Given the description of an element on the screen output the (x, y) to click on. 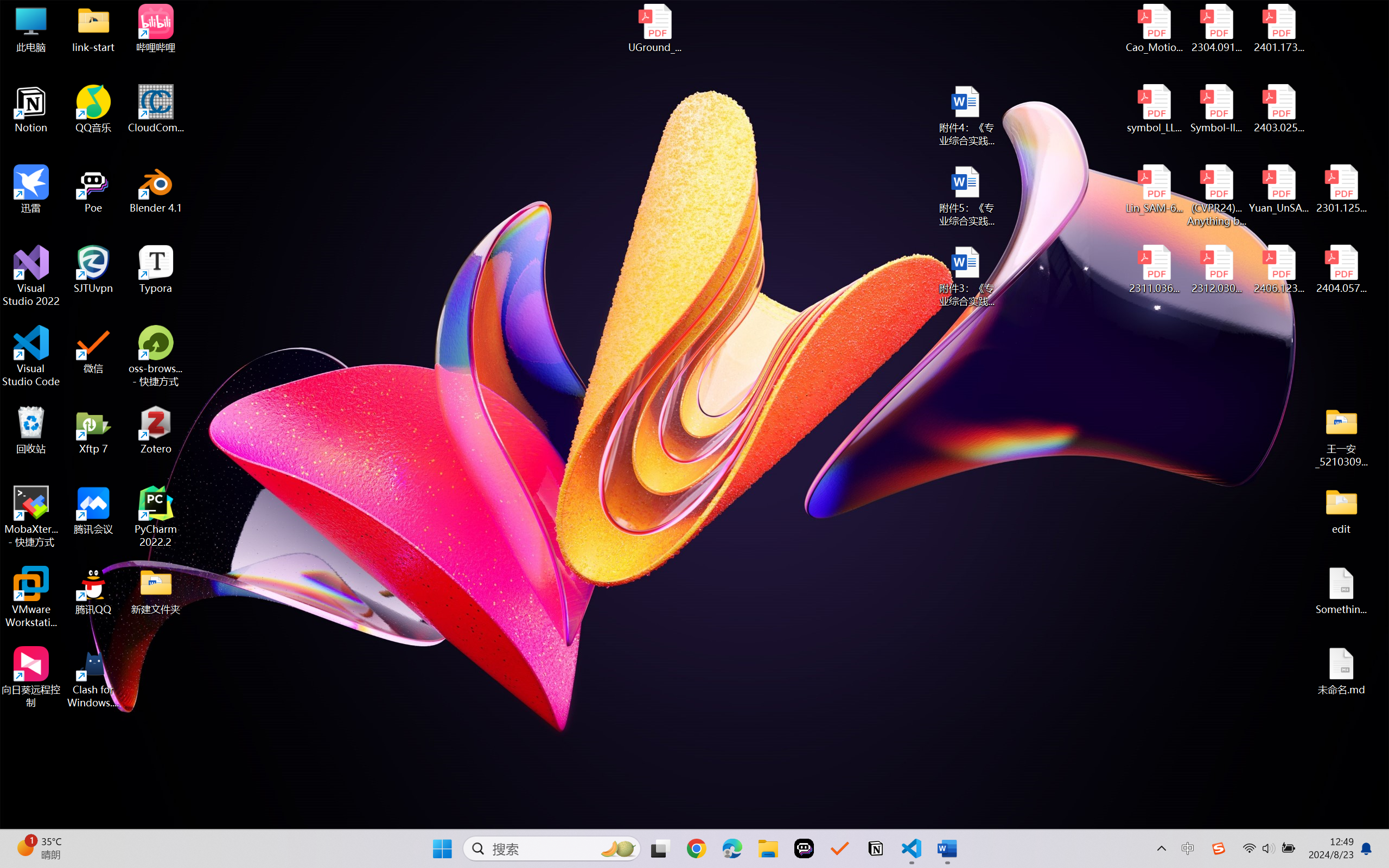
edit (1340, 510)
PyCharm 2022.2 (156, 516)
UGround_paper.pdf (654, 28)
Xftp 7 (93, 430)
2406.12373v2.pdf (1278, 269)
